Given the description of an element on the screen output the (x, y) to click on. 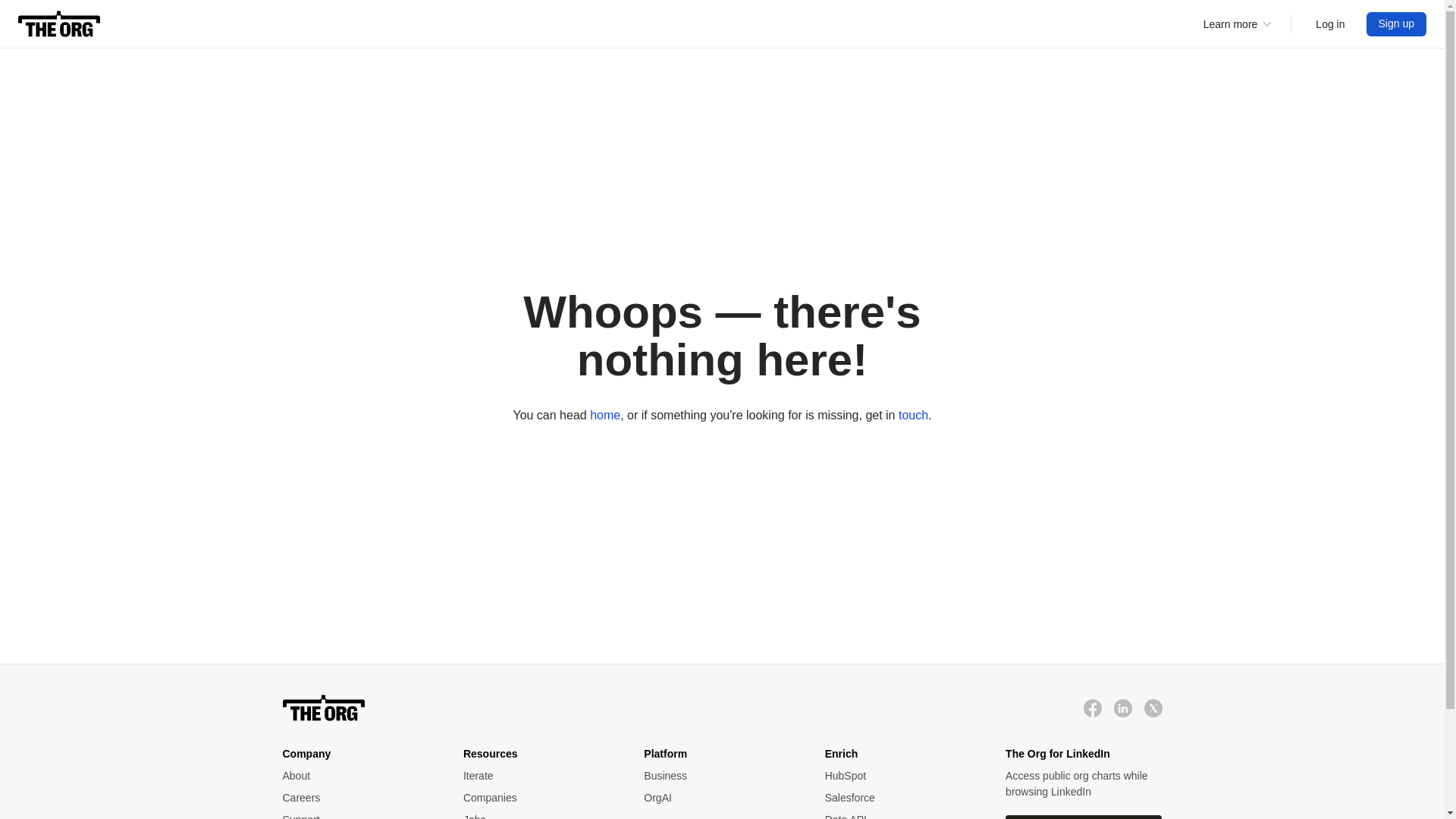
Facebook (1091, 708)
LinkedIn (1122, 708)
Support (357, 815)
HubSpot (900, 775)
Log in to The Org (1329, 24)
Data API (900, 815)
Business (718, 775)
About (357, 775)
Support (357, 815)
Jobs (537, 815)
The Org Home (58, 23)
Log in (1329, 24)
HubSpot (900, 775)
Business (718, 775)
Iterate (537, 775)
